Given the description of an element on the screen output the (x, y) to click on. 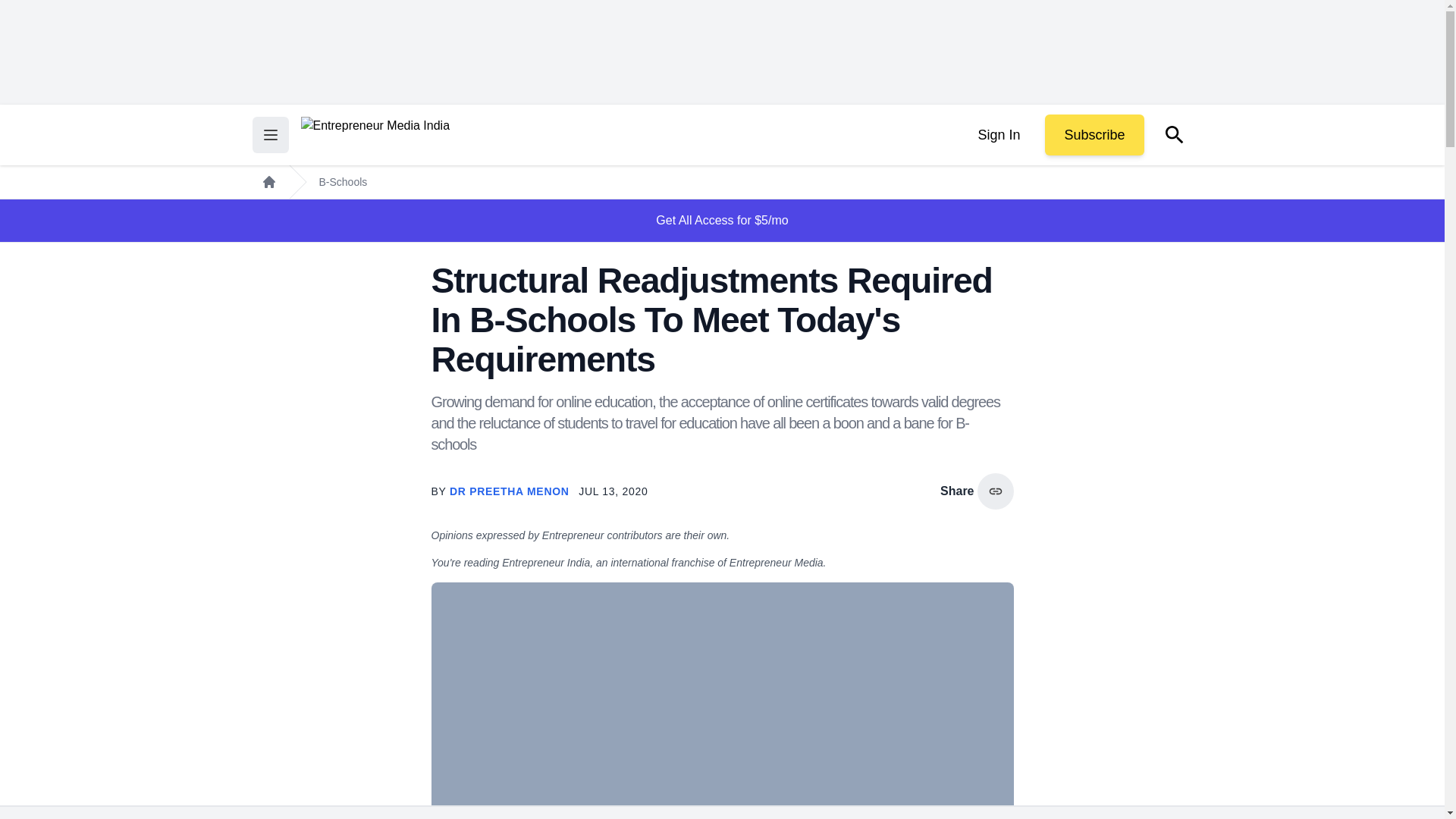
copy (994, 491)
Sign In (998, 134)
Return to the home page (374, 135)
Subscribe (1093, 134)
